Given the description of an element on the screen output the (x, y) to click on. 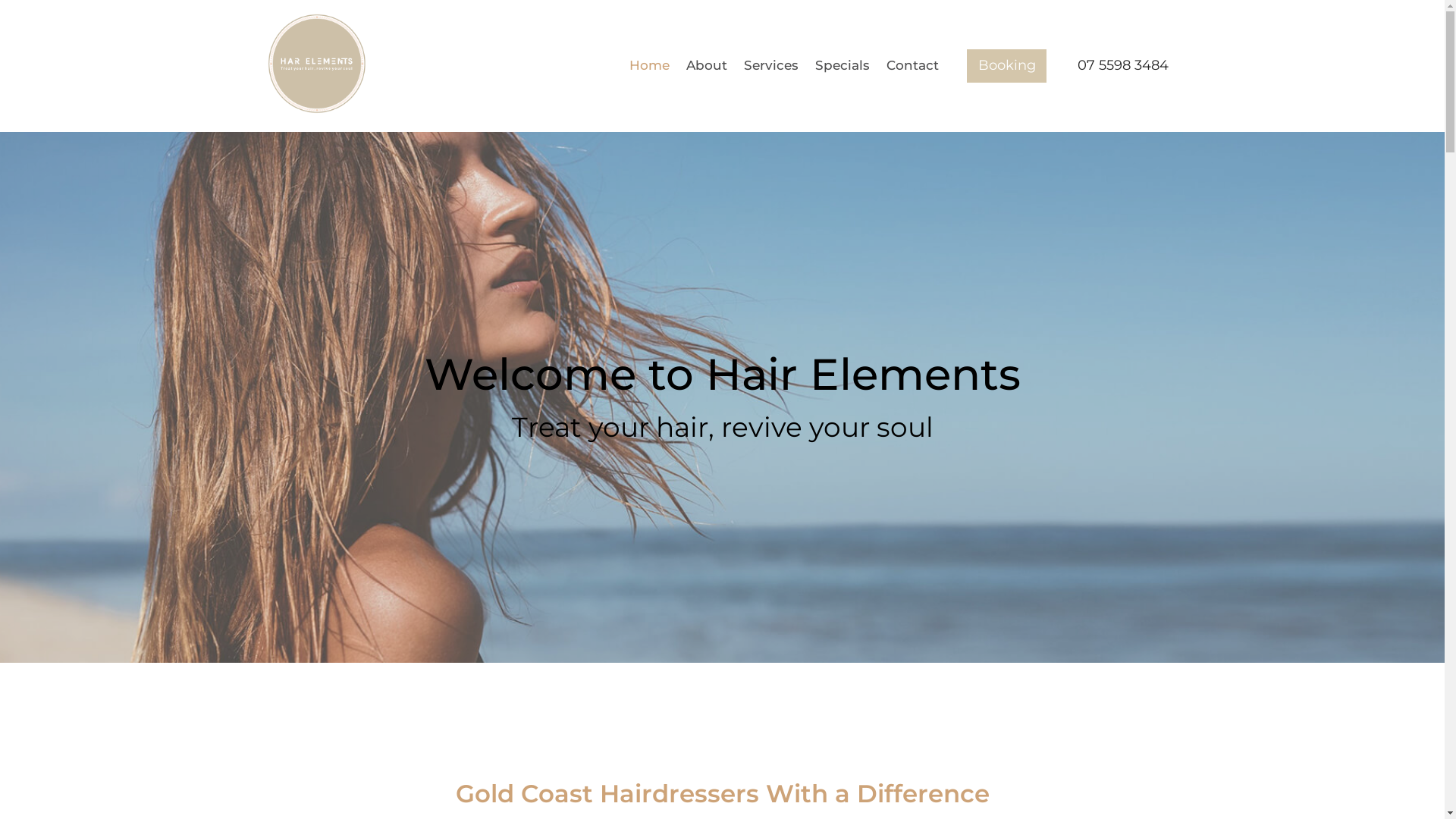
Booking Element type: text (1006, 65)
Contact Element type: text (911, 65)
07 5598 3484 Element type: text (1121, 64)
Home Element type: text (649, 65)
Skip to primary navigation Element type: text (0, 0)
Services Element type: text (770, 65)
Specials Element type: text (841, 65)
About Element type: text (706, 65)
Hair Elements Element type: hover (315, 108)
